Given the description of an element on the screen output the (x, y) to click on. 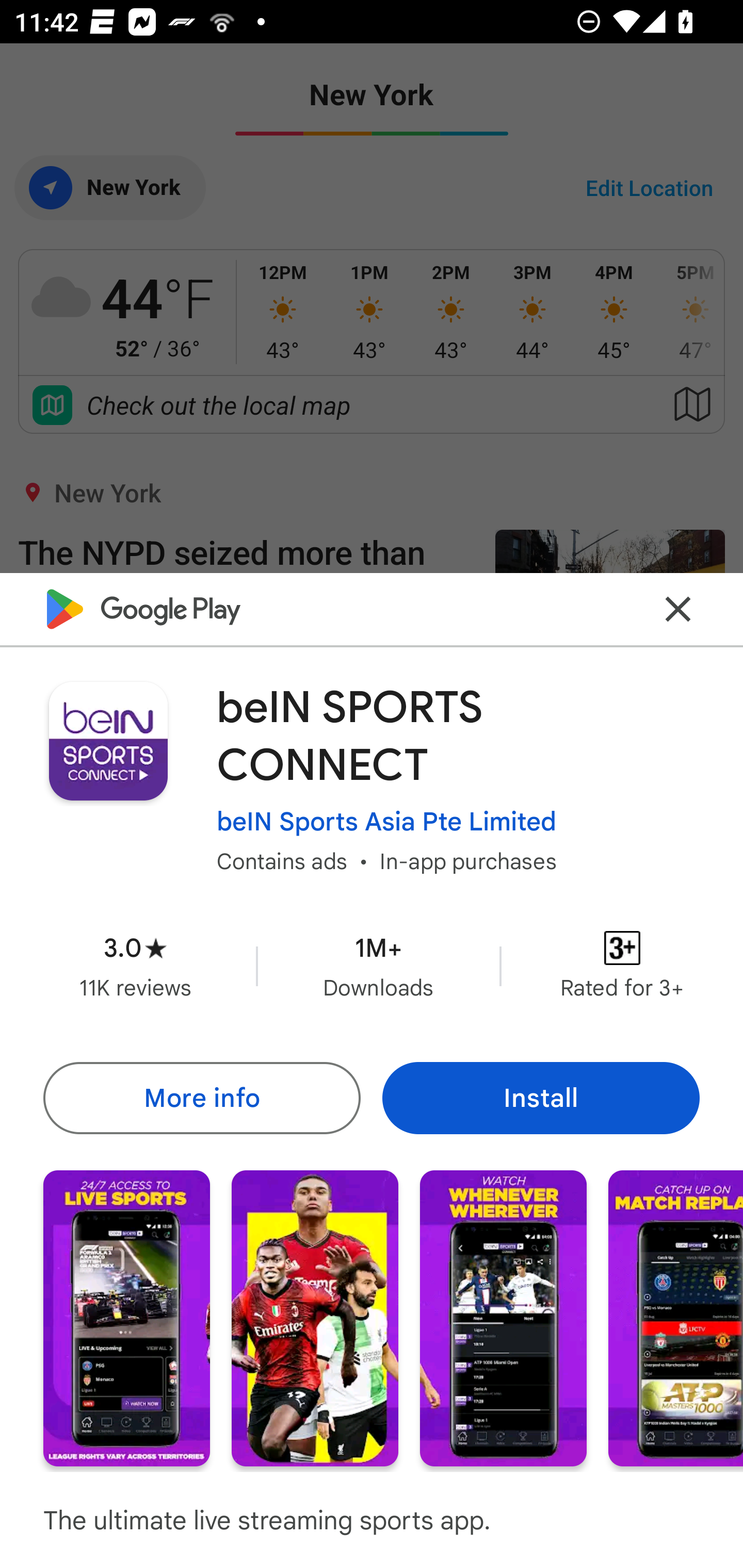
Close (677, 609)
Image of app or game icon for beIN SPORTS CONNECT (108, 740)
beIN Sports Asia Pte Limited (386, 822)
More info (201, 1097)
Install (540, 1097)
Screenshot "1" of "6" (126, 1317)
Screenshot "2" of "6" (314, 1317)
Screenshot "3" of "6" (502, 1317)
Screenshot "4" of "6" (675, 1317)
